Given the description of an element on the screen output the (x, y) to click on. 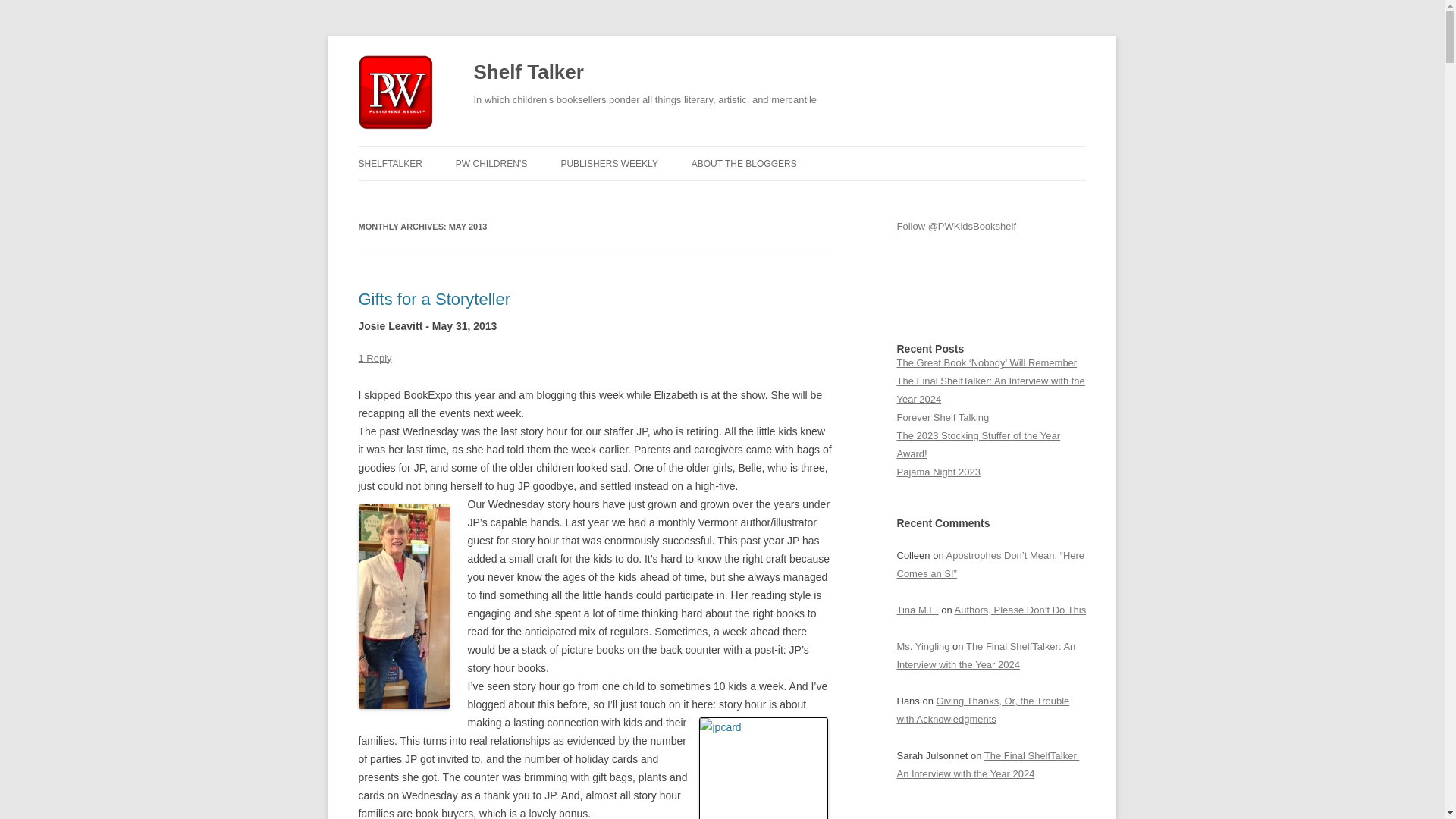
Shelf Talker (528, 72)
1 Reply (374, 357)
Shelf Talker (528, 72)
SHELFTALKER (390, 163)
Gifts for a Storyteller (434, 298)
ABOUT THE BLOGGERS (743, 163)
PUBLISHERS WEEKLY (609, 163)
